Given the description of an element on the screen output the (x, y) to click on. 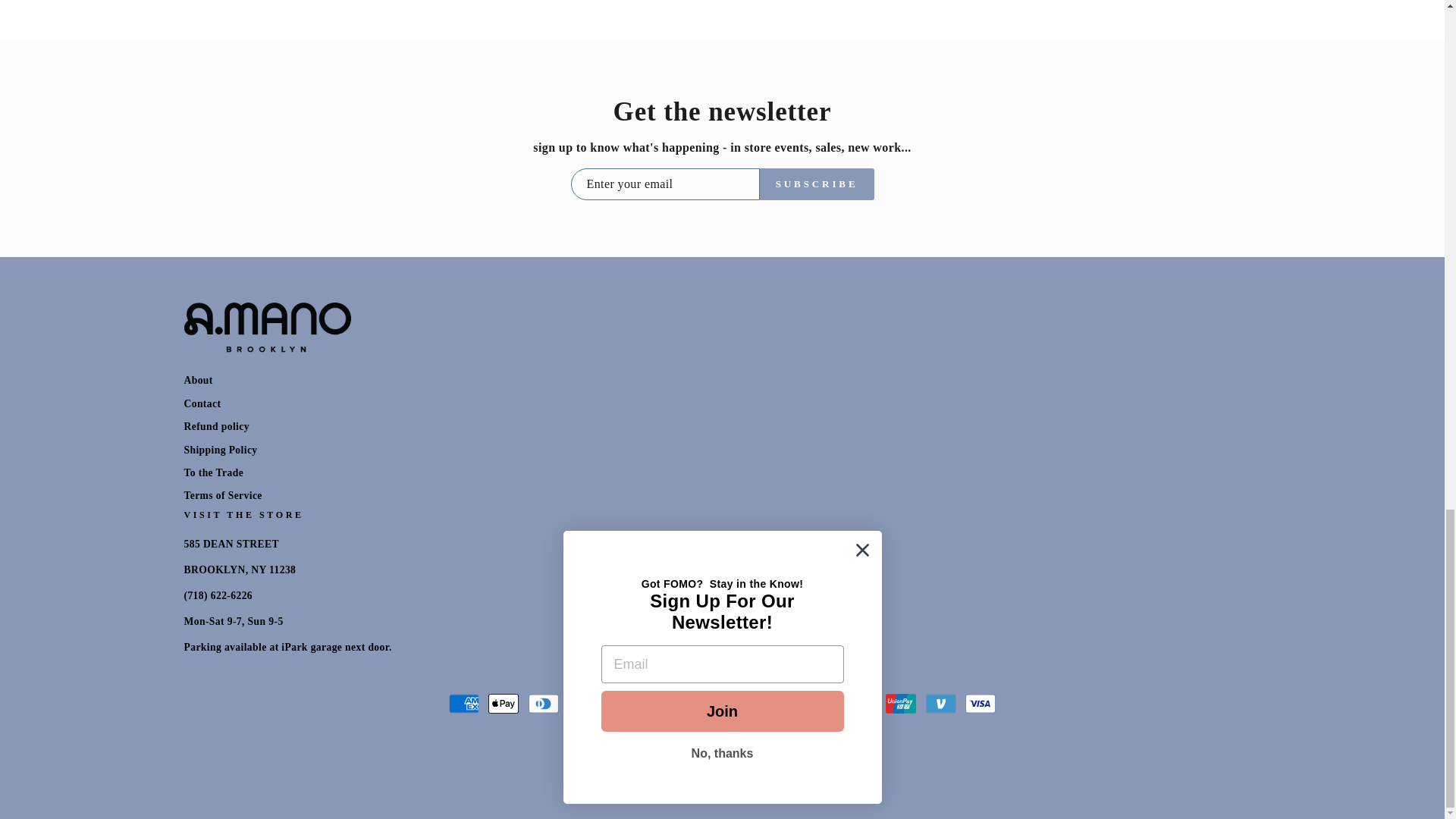
Meta Pay (622, 703)
Discover (582, 703)
JCB (702, 703)
Apple Pay (502, 703)
American Express (463, 703)
Google Pay (662, 703)
Diners Club (543, 703)
